Given the description of an element on the screen output the (x, y) to click on. 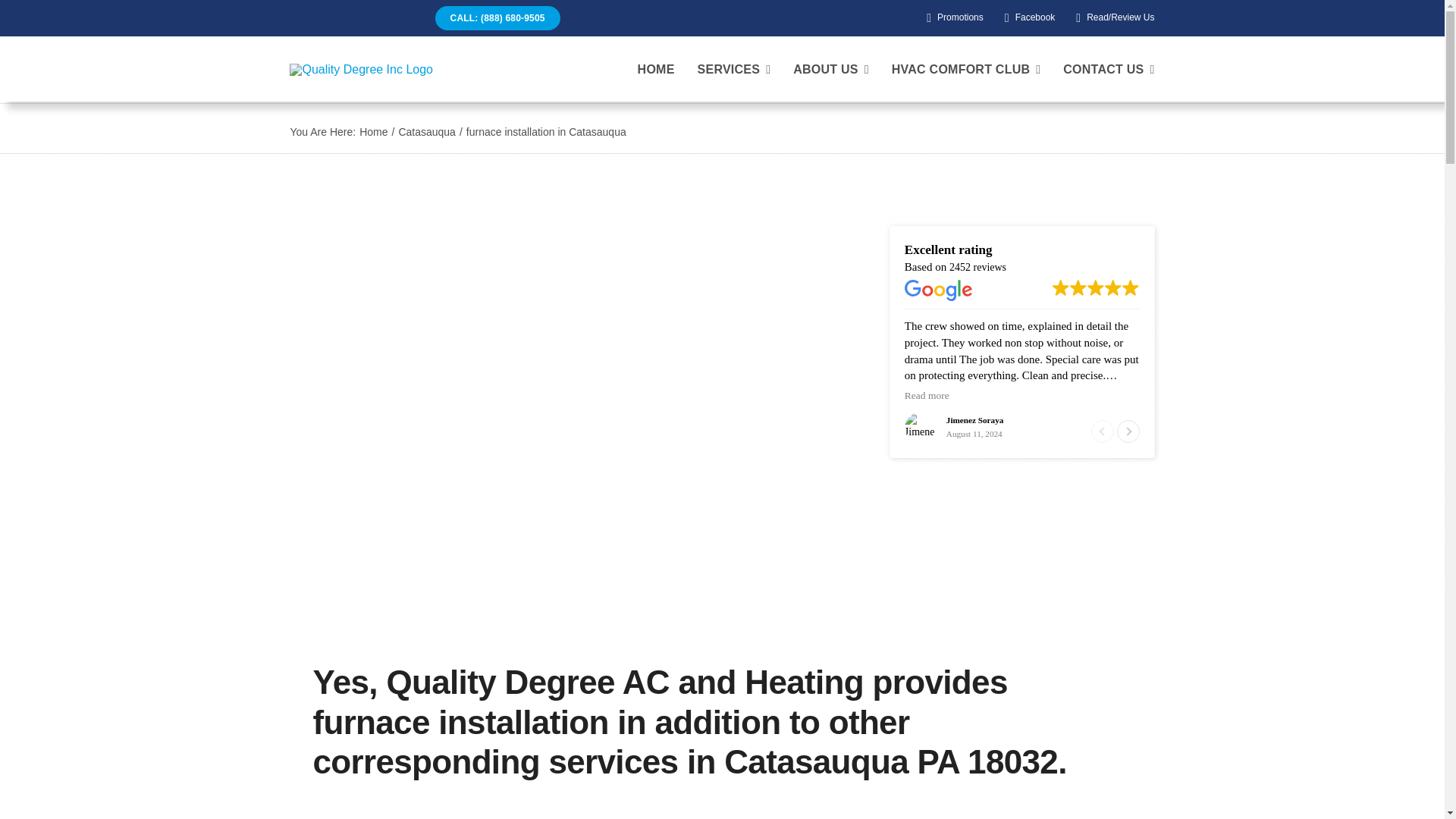
Click to call Quality Degree Heating and Air Conditioning (497, 17)
CONTACT US (1108, 69)
SERVICES (734, 69)
Facebook (1026, 18)
HVAC COMFORT CLUB (966, 69)
Home (373, 132)
ABOUT US (831, 69)
Catasauqua (426, 132)
Promotions (952, 18)
